Given the description of an element on the screen output the (x, y) to click on. 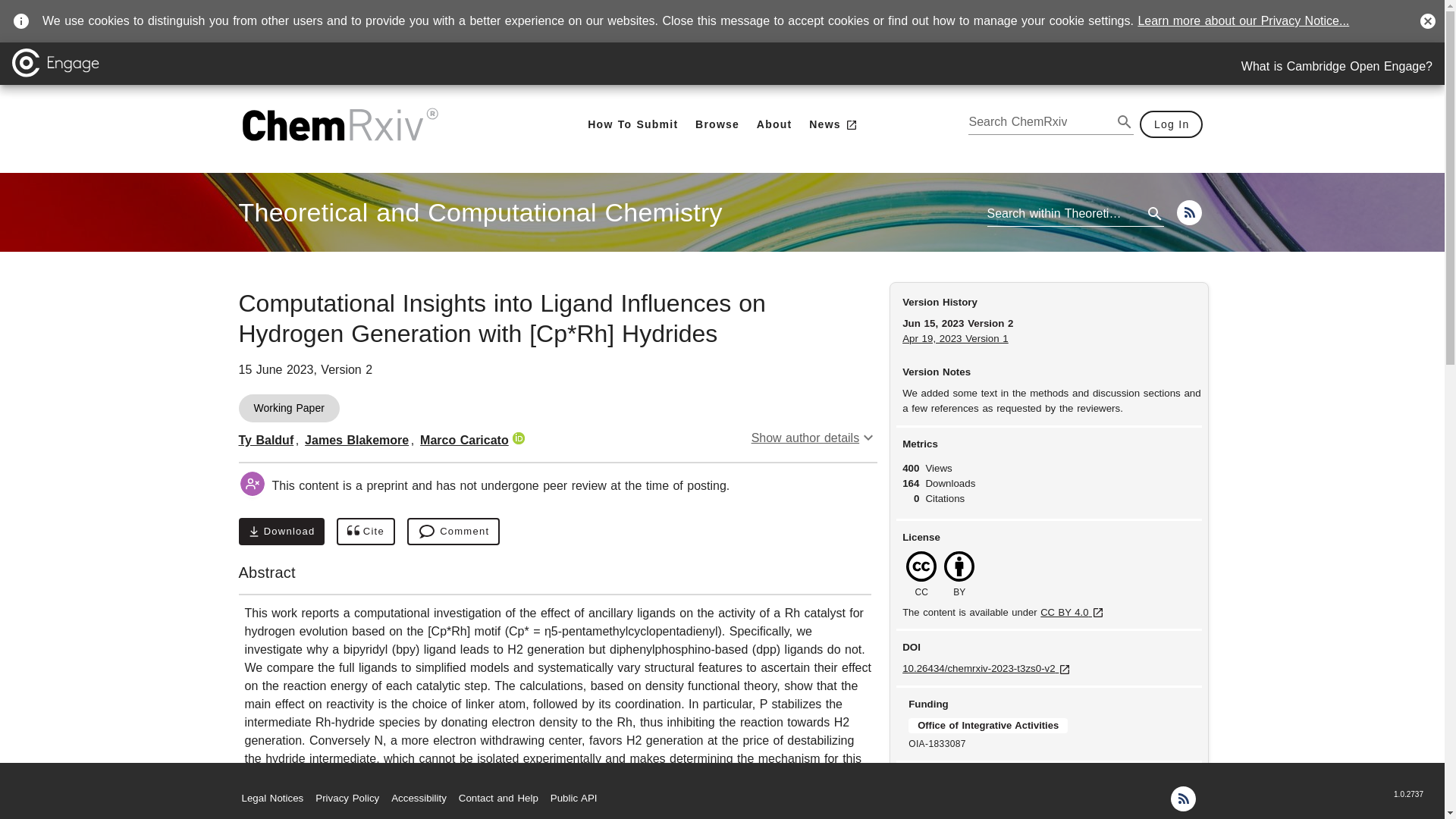
Cite (365, 531)
How To Submit (632, 124)
Ty Balduf (266, 440)
Browse (716, 124)
Show author details (814, 437)
Marco Caricato (464, 440)
Download (280, 531)
Log In (1172, 124)
James Blakemore (356, 440)
